Given the description of an element on the screen output the (x, y) to click on. 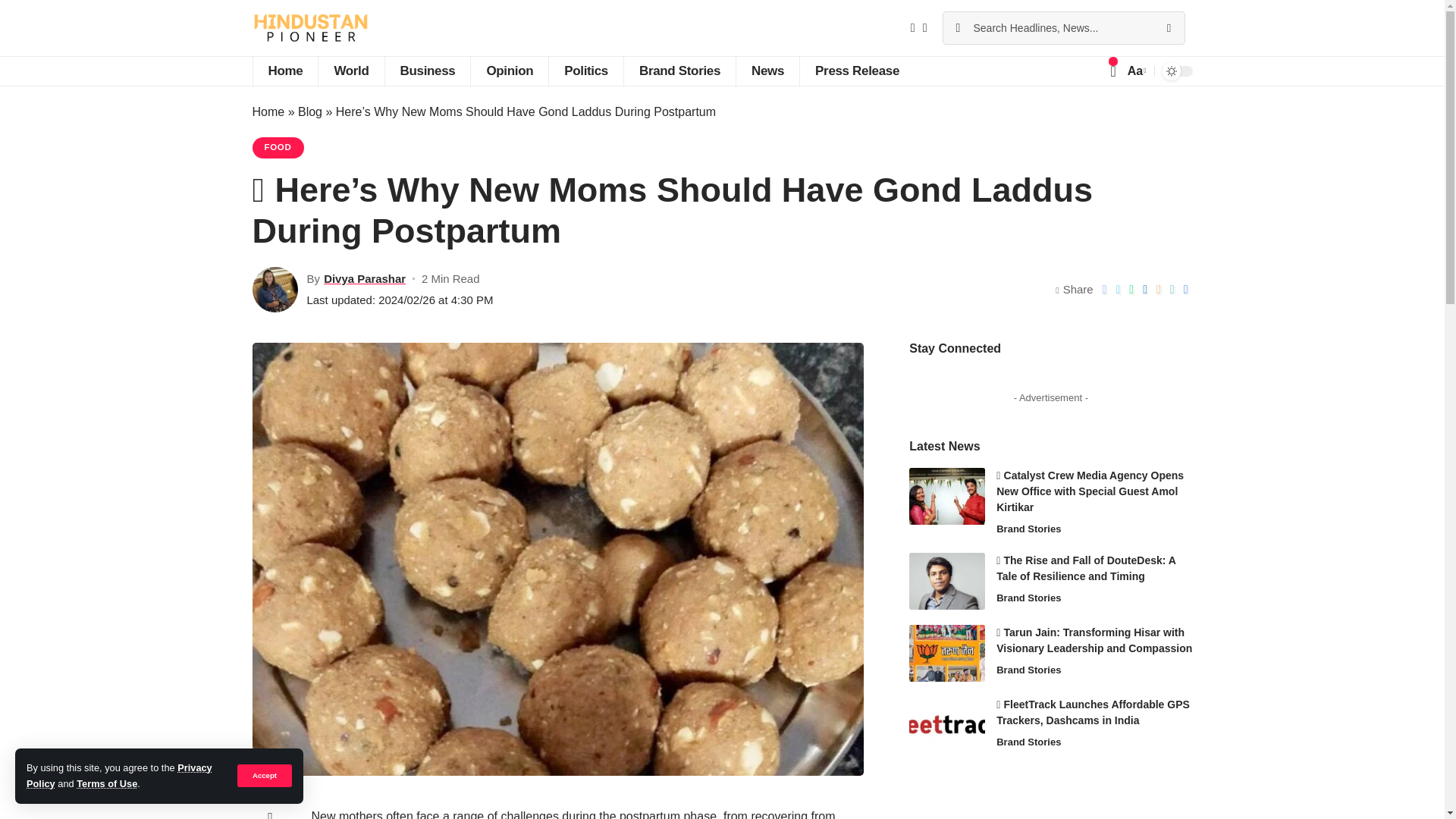
Home (284, 71)
Politics (585, 71)
Search (1168, 28)
Accept (264, 775)
Terms of Use (106, 783)
World (350, 71)
